Given the description of an element on the screen output the (x, y) to click on. 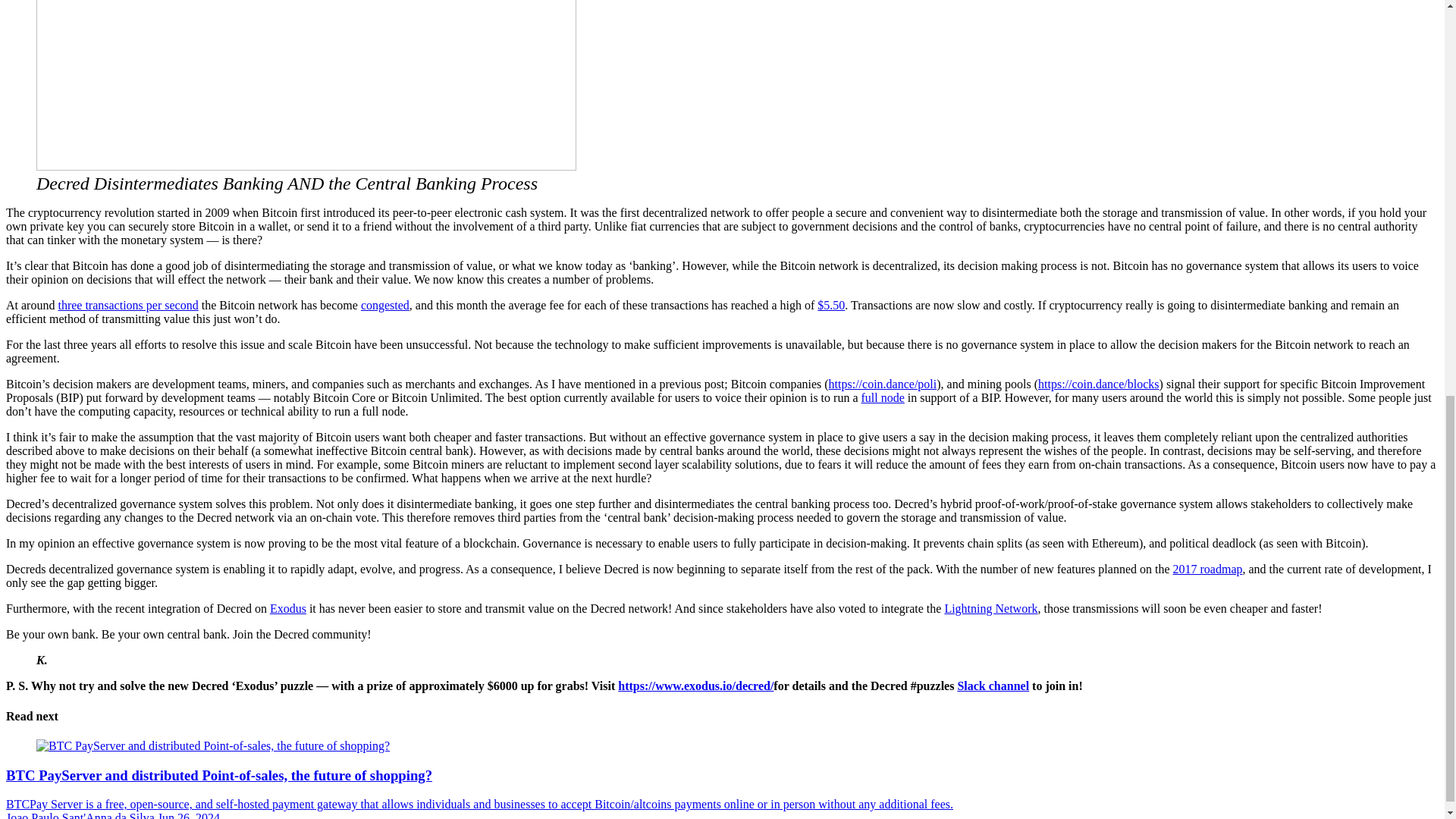
2017 roadmap (1208, 568)
Lightning Network (989, 608)
Slack channel (992, 685)
congested (385, 305)
three transactions per second (128, 305)
Exodus (287, 608)
full node (882, 397)
